Given the description of an element on the screen output the (x, y) to click on. 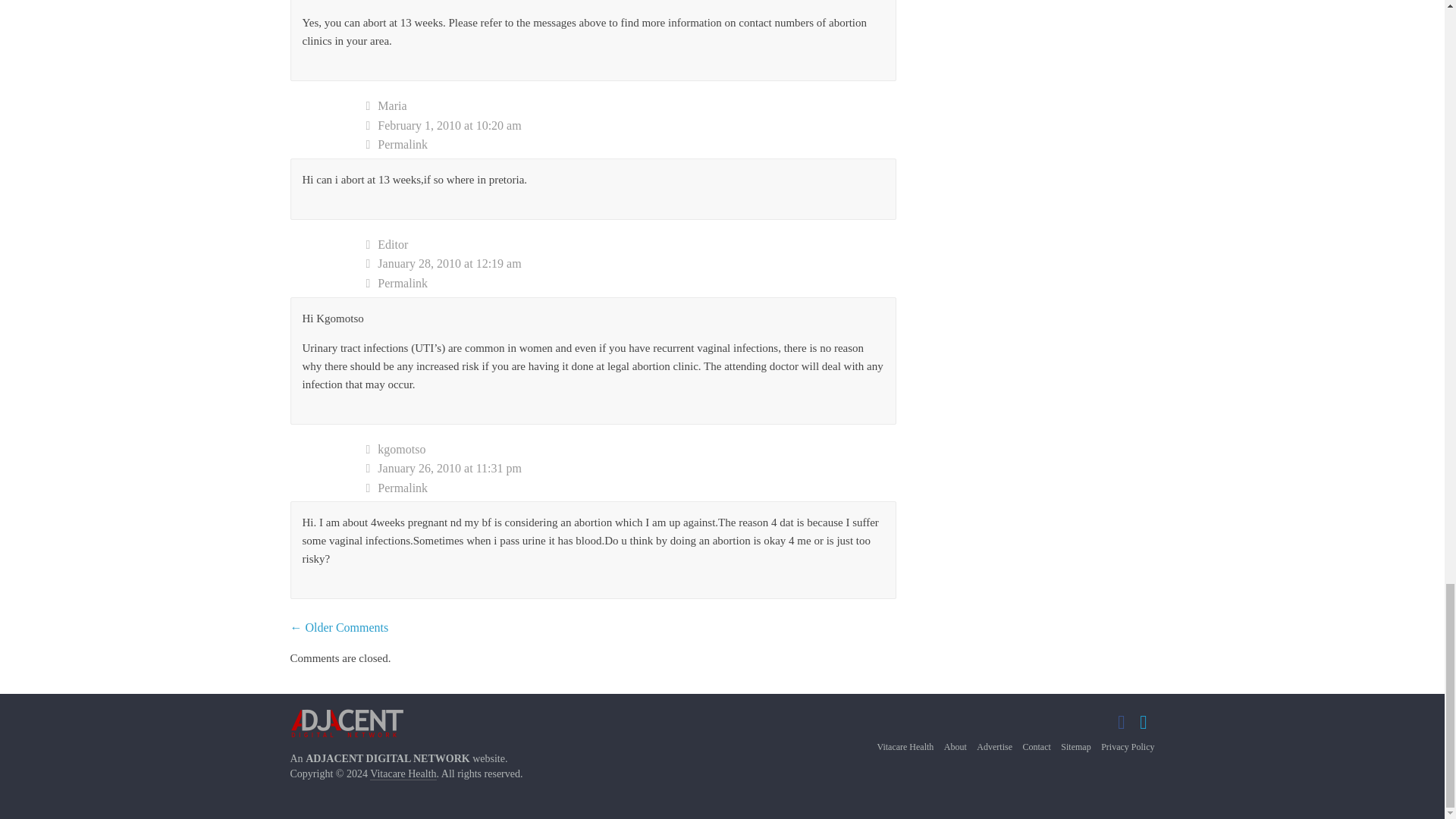
Permalink (630, 283)
Vitacare Health (402, 774)
Permalink (630, 487)
Permalink (630, 144)
